Given the description of an element on the screen output the (x, y) to click on. 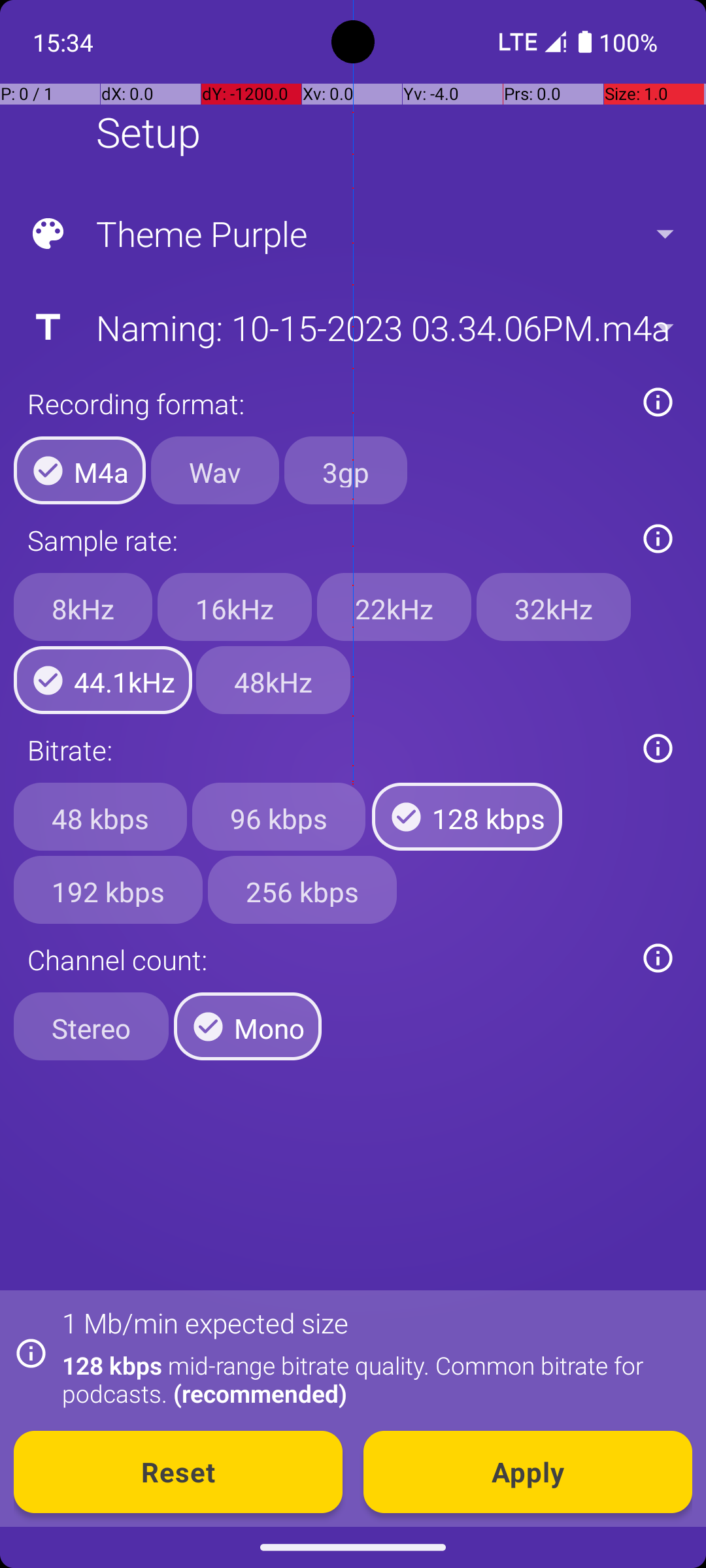
128 kbps mid-range bitrate quality. Common bitrate for podcasts. (recommended) Element type: android.widget.TextView (370, 1378)
Naming: 10-15-2023 03.34.06PM.m4a Element type: android.widget.TextView (352, 327)
